Given the description of an element on the screen output the (x, y) to click on. 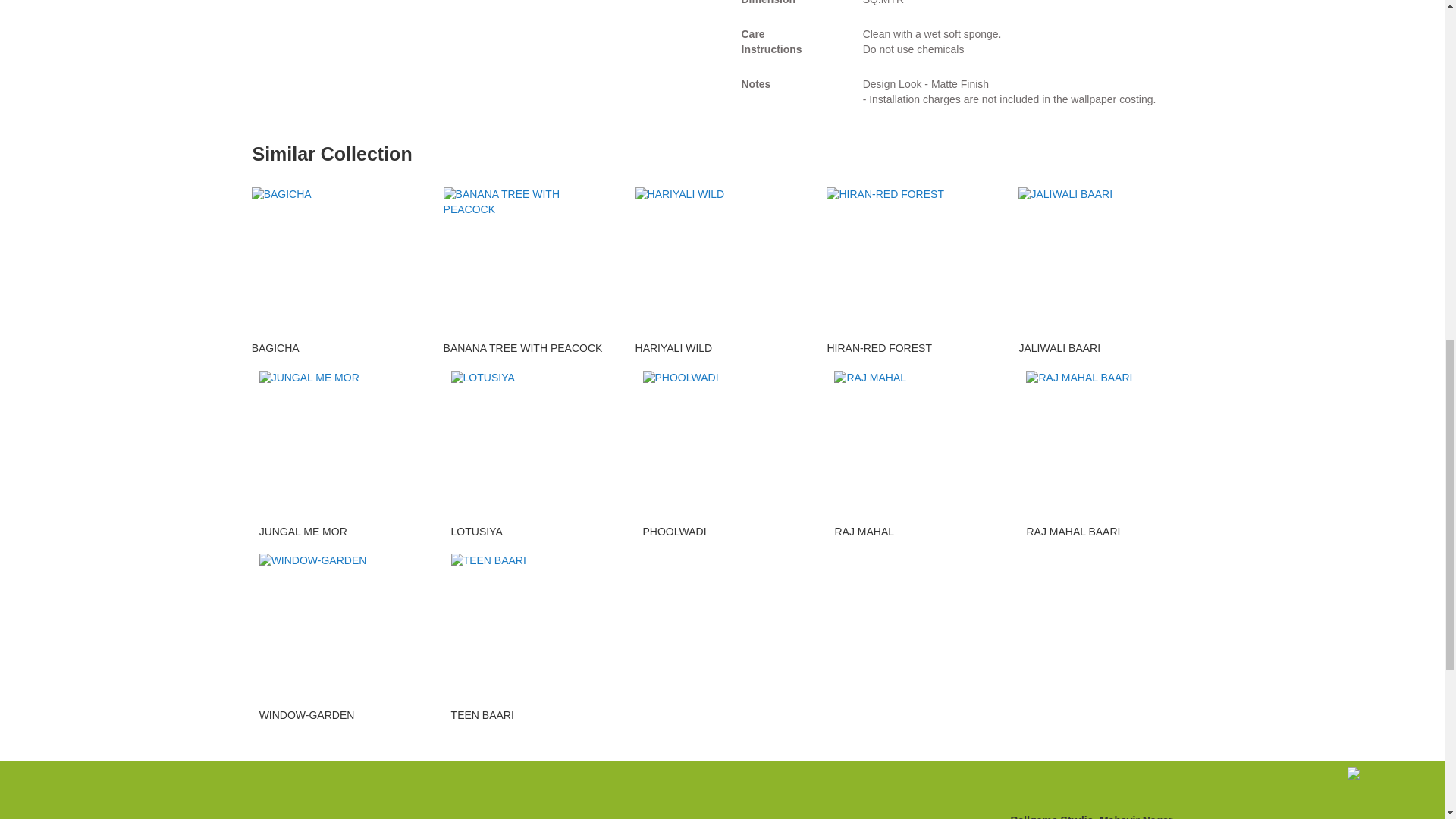
BAGICHA (275, 347)
HARIYALI WILD  (673, 347)
HIRAN-RED FOREST (879, 347)
BANANA TREE WITH PEACOCK (523, 347)
